Given the description of an element on the screen output the (x, y) to click on. 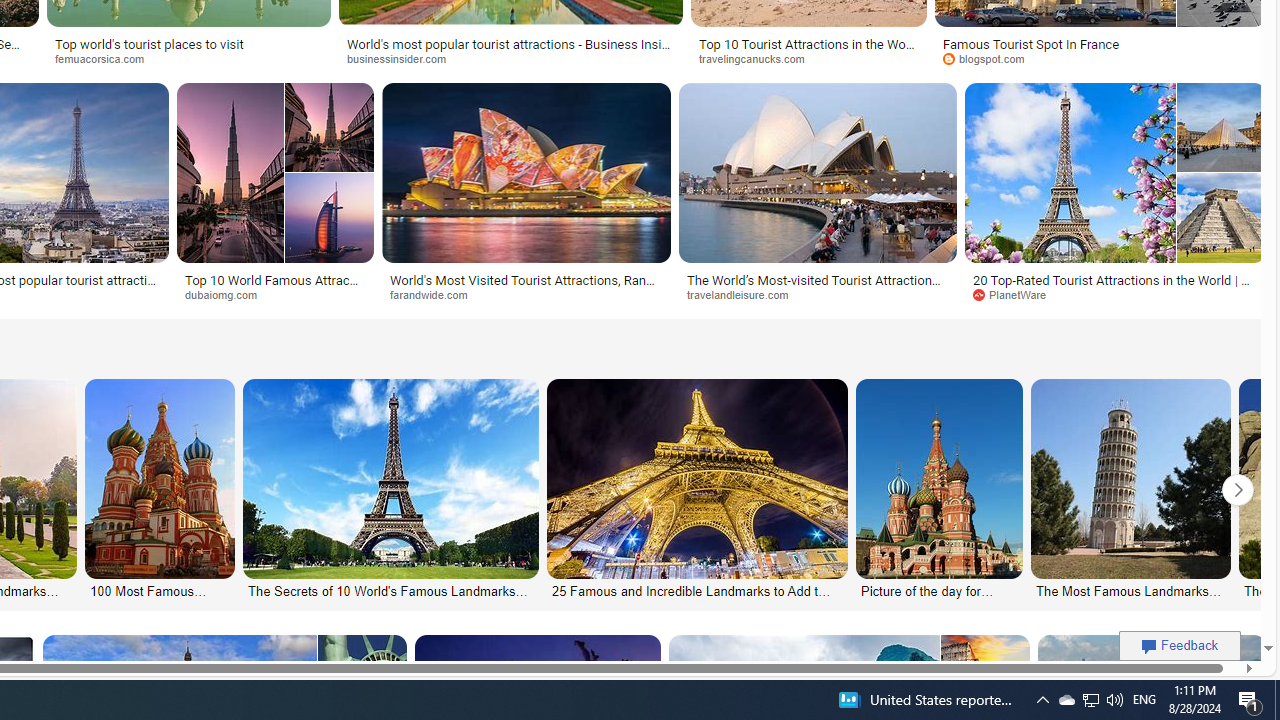
Image result for World tourist attraction (1221, 217)
Top world's tourist places to visit (149, 44)
Top 10 Tourist Attractions in the World | Traveling Canucks (808, 50)
Famous Tourist Spot In France (1031, 44)
Image result for World tourist attraction (1115, 172)
femuacorsica.com (188, 58)
blogspot.com (1100, 58)
travelingcanucks.com (808, 58)
